Given the description of an element on the screen output the (x, y) to click on. 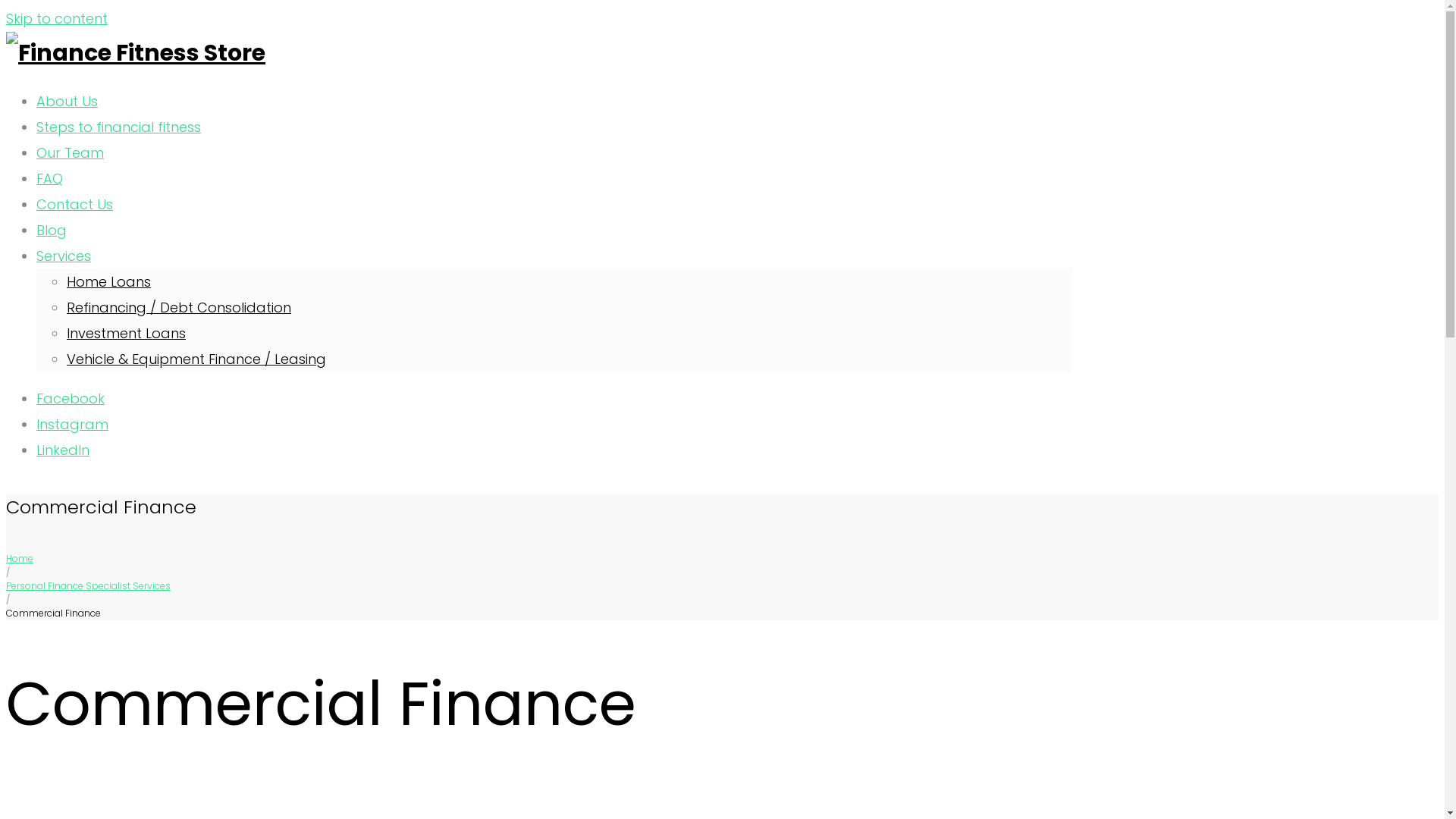
Facebook Element type: text (70, 398)
Personal Finance Specialist Services Element type: text (88, 585)
Contact Us Element type: text (74, 203)
LinkedIn Element type: text (62, 449)
Refinancing / Debt Consolidation Element type: text (178, 307)
Services Element type: text (63, 255)
Investment Loans Element type: text (125, 332)
Blog Element type: text (51, 229)
Skip to content Element type: text (56, 18)
Our Team Element type: text (69, 152)
Instagram Element type: text (72, 423)
About Us Element type: text (66, 100)
Vehicle & Equipment Finance / Leasing Element type: text (196, 358)
Home Element type: text (19, 558)
FAQ Element type: text (49, 178)
Steps to financial fitness Element type: text (118, 126)
Home Loans Element type: text (108, 281)
